Given the description of an element on the screen output the (x, y) to click on. 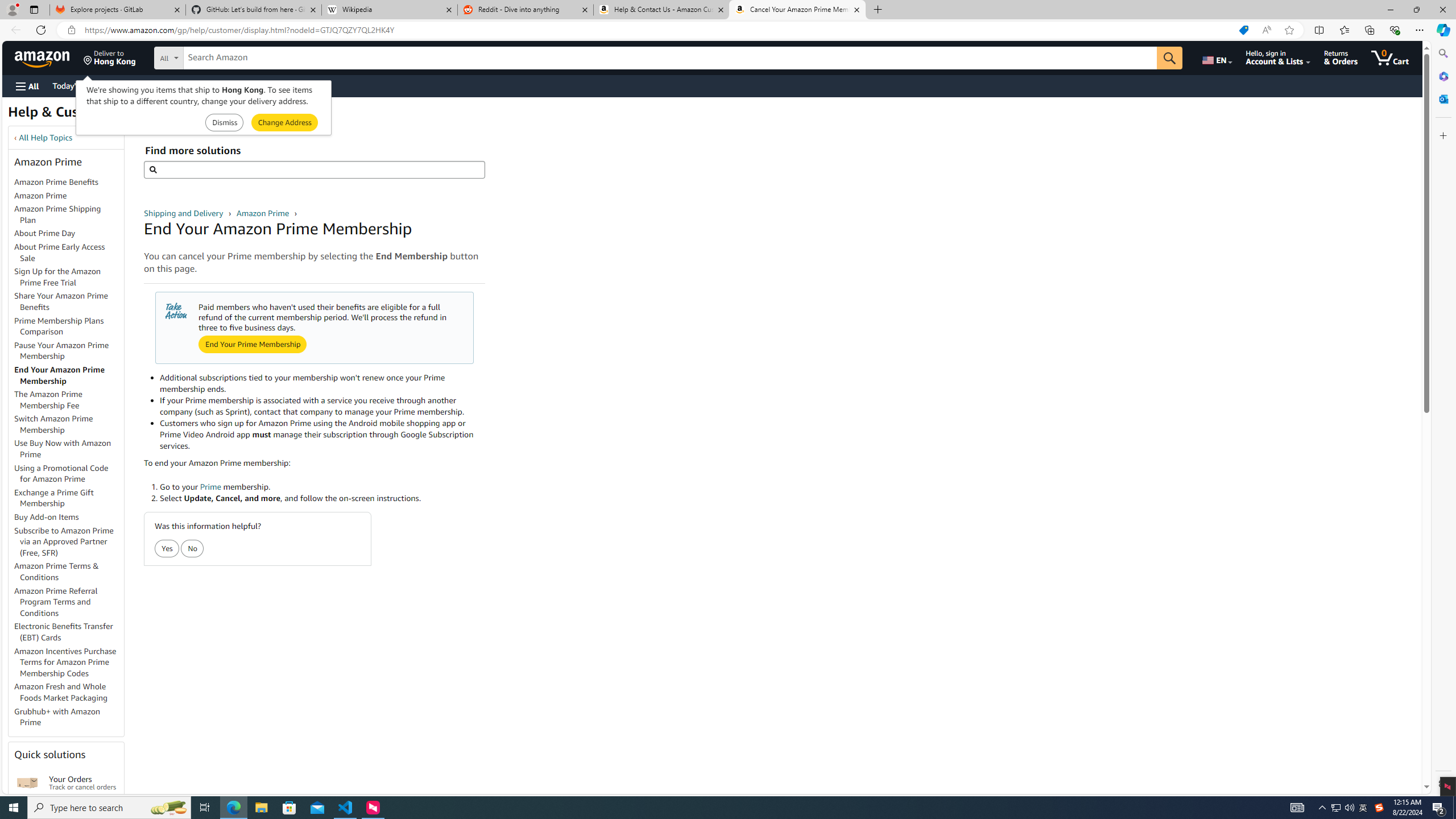
Buy Add-on Items (68, 517)
Registry (205, 85)
The Amazon Prime Membership Fee (48, 399)
Go (1169, 57)
Sell (290, 85)
Exchange a Prime Gift Membership (53, 497)
Find more solutions (314, 169)
Search in (210, 56)
Sign Up for the Amazon Prime Free Trial (68, 277)
Amazon Prime Referral Program Terms and Conditions (55, 601)
Using a Promotional Code for Amazon Prime (68, 473)
